Given the description of an element on the screen output the (x, y) to click on. 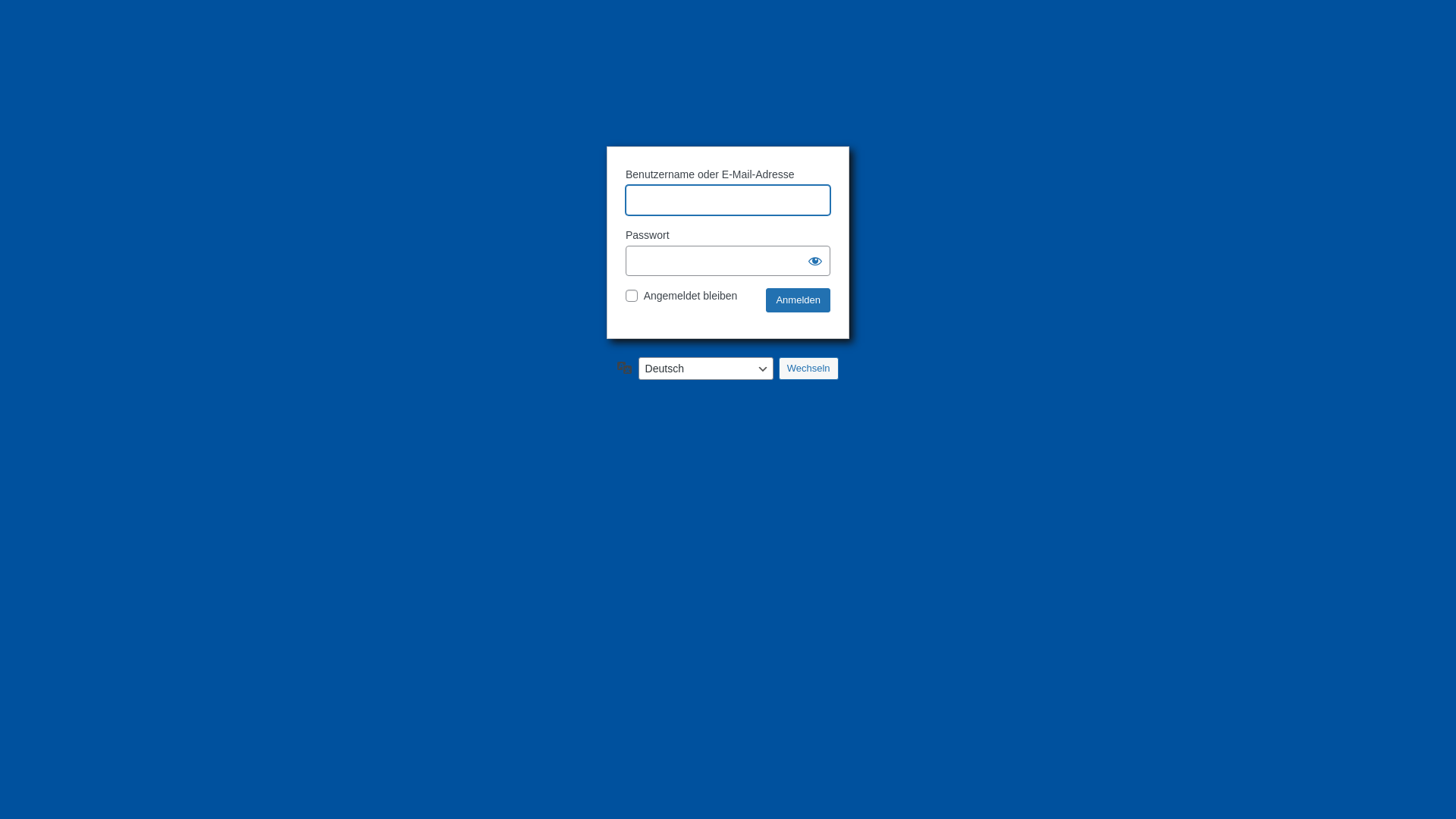
Anmelden Element type: text (797, 300)
Wechseln Element type: text (808, 368)
Powered by WordPress Element type: text (727, 99)
